Given the description of an element on the screen output the (x, y) to click on. 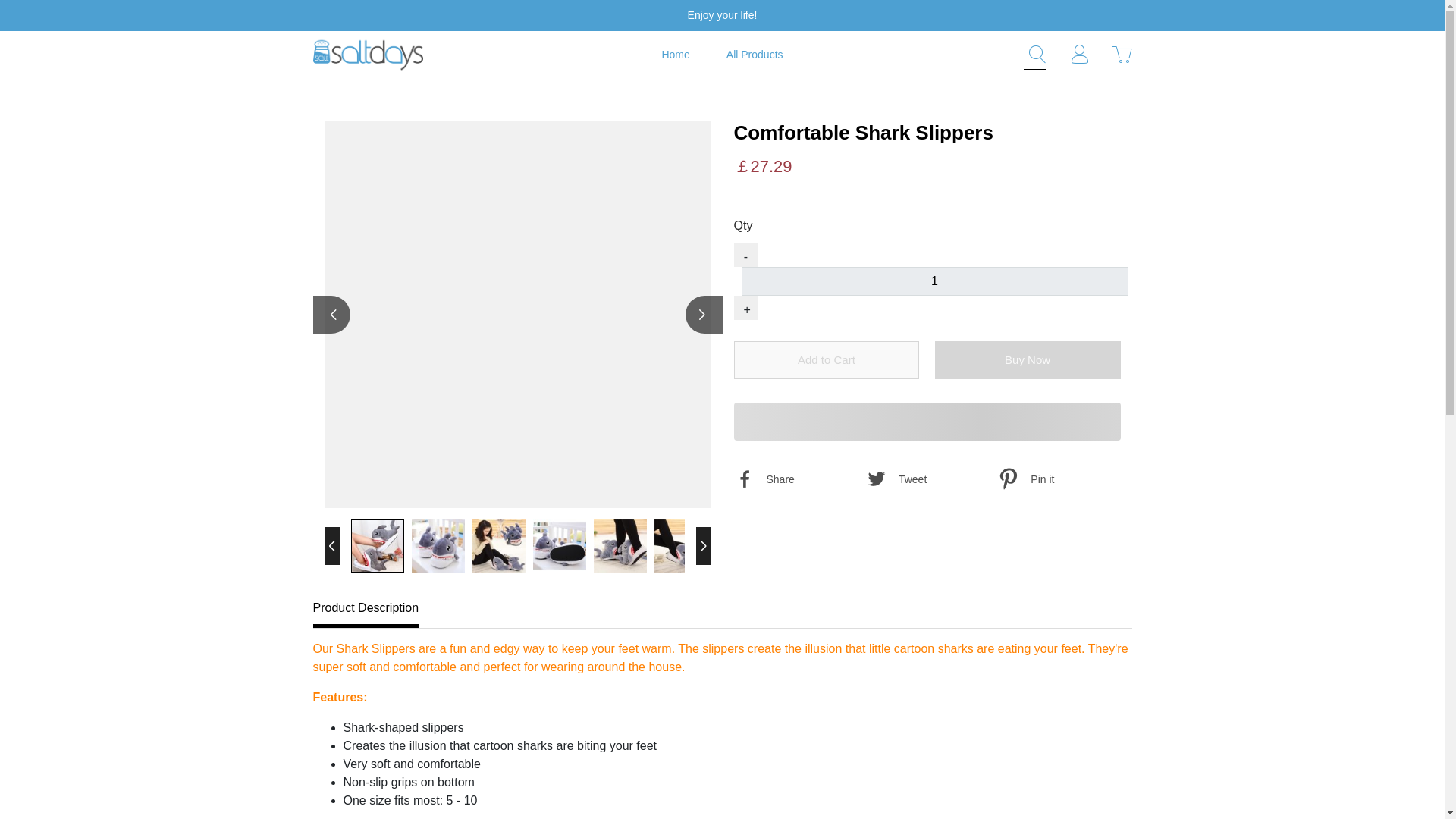
Home (674, 54)
All Products (754, 54)
1 (934, 280)
